Given the description of an element on the screen output the (x, y) to click on. 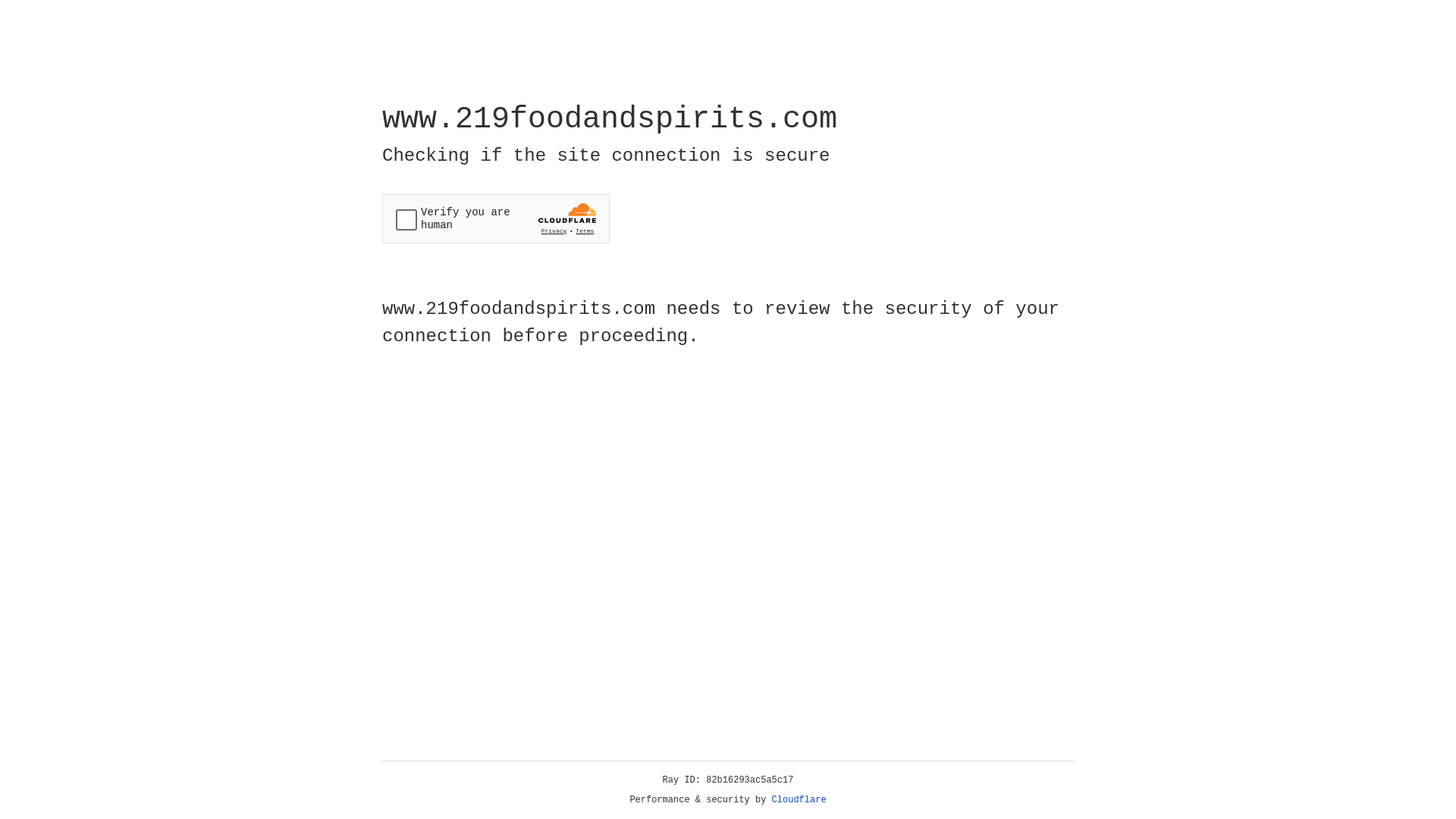
Widget containing a Cloudflare security challenge Element type: hover (495, 218)
Cloudflare Element type: text (798, 799)
